Given the description of an element on the screen output the (x, y) to click on. 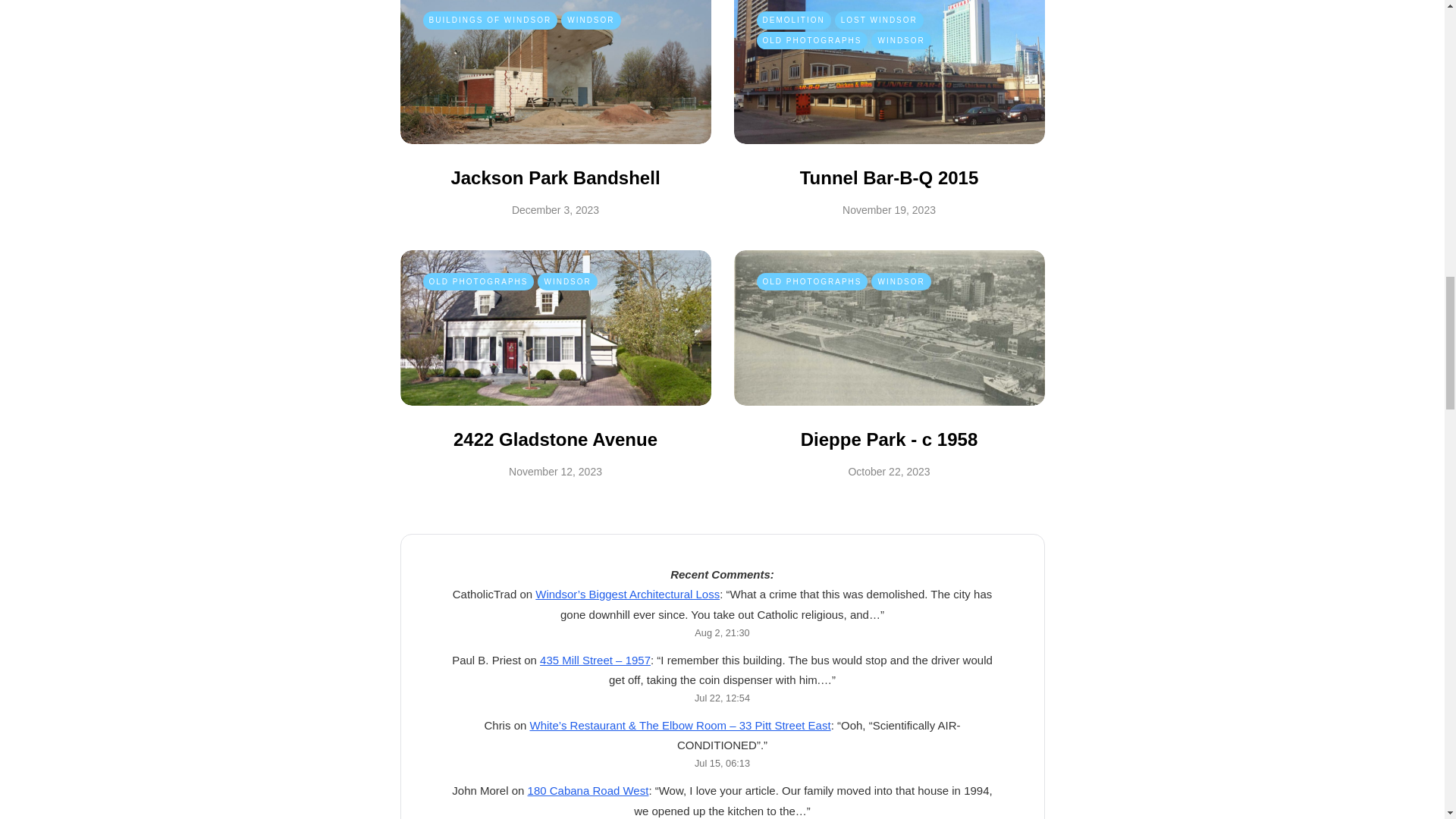
DEMOLITION (794, 20)
LOST WINDSOR (878, 20)
OLD PHOTOGRAPHS (812, 281)
OLD PHOTOGRAPHS (478, 281)
OLD PHOTOGRAPHS (812, 40)
Tunnel Bar-B-Q 2015 (888, 177)
WINDSOR (900, 281)
Jackson Park Bandshell (554, 177)
Dieppe Park - c 1958 (888, 439)
WINDSOR (590, 20)
